Given the description of an element on the screen output the (x, y) to click on. 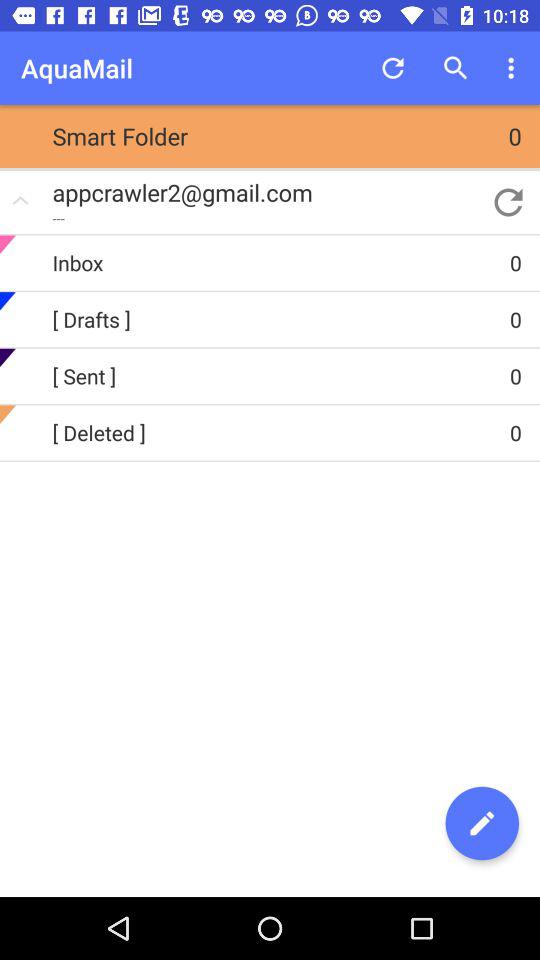
choose item above the inbox (508, 202)
